Given the description of an element on the screen output the (x, y) to click on. 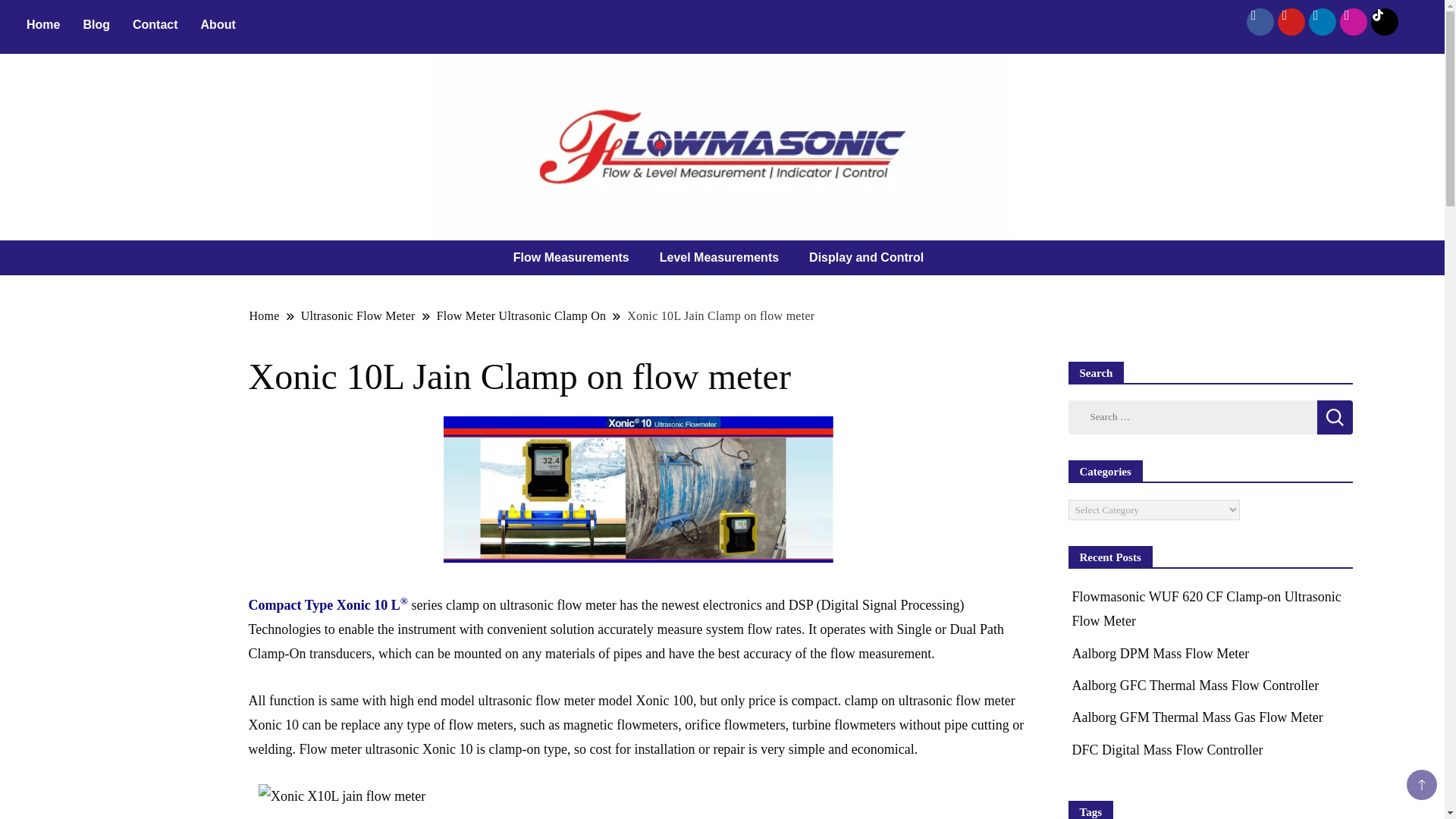
Flow Meter Ultrasonic Clamp On (521, 315)
Search (1334, 417)
Display and Control (869, 257)
Search (1334, 417)
About (218, 24)
Ultrasonic Flow Meter (357, 315)
Blog (95, 24)
Home (42, 24)
Contact (154, 24)
Home (264, 315)
